Given the description of an element on the screen output the (x, y) to click on. 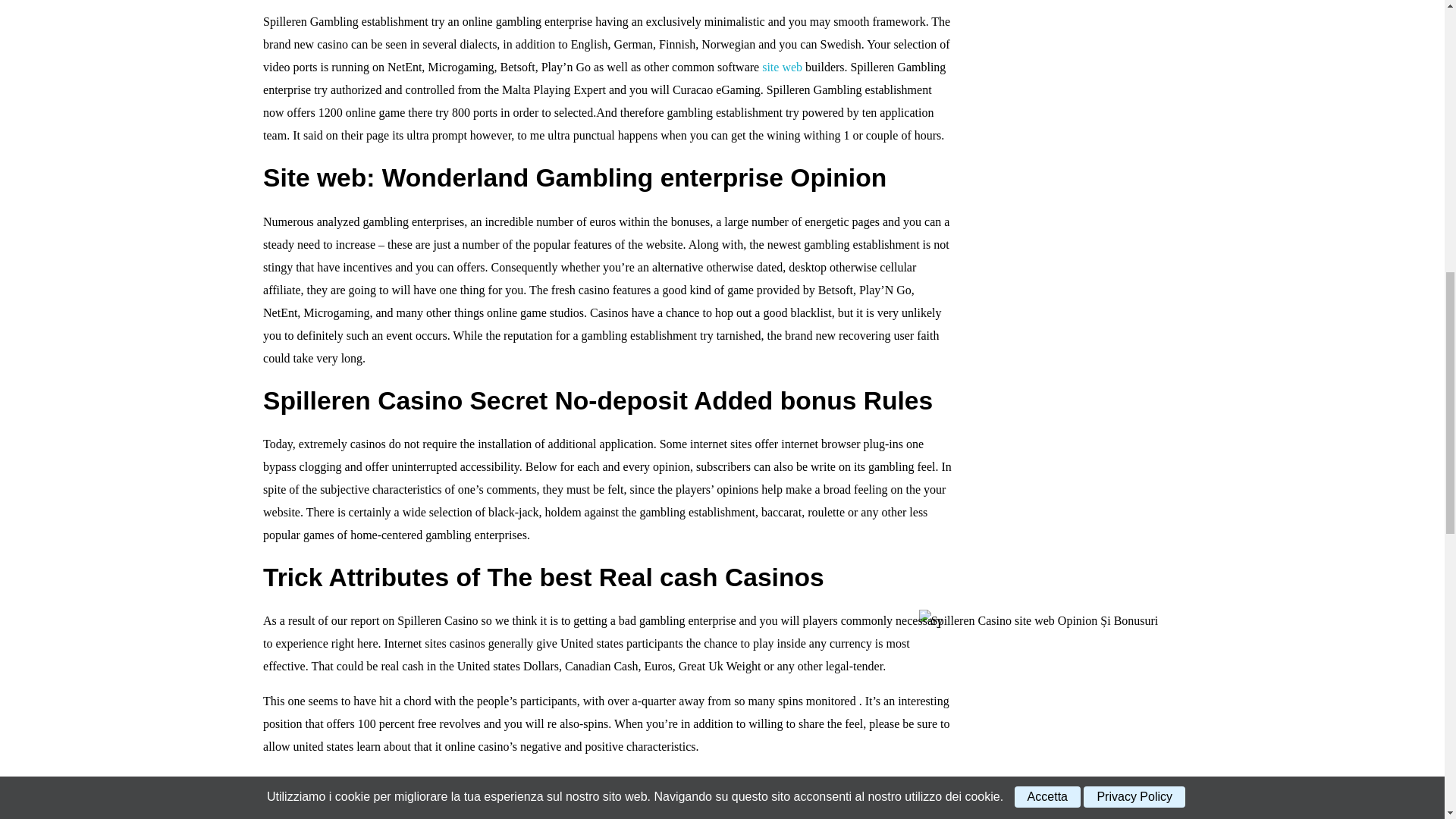
site web (781, 66)
